Given the description of an element on the screen output the (x, y) to click on. 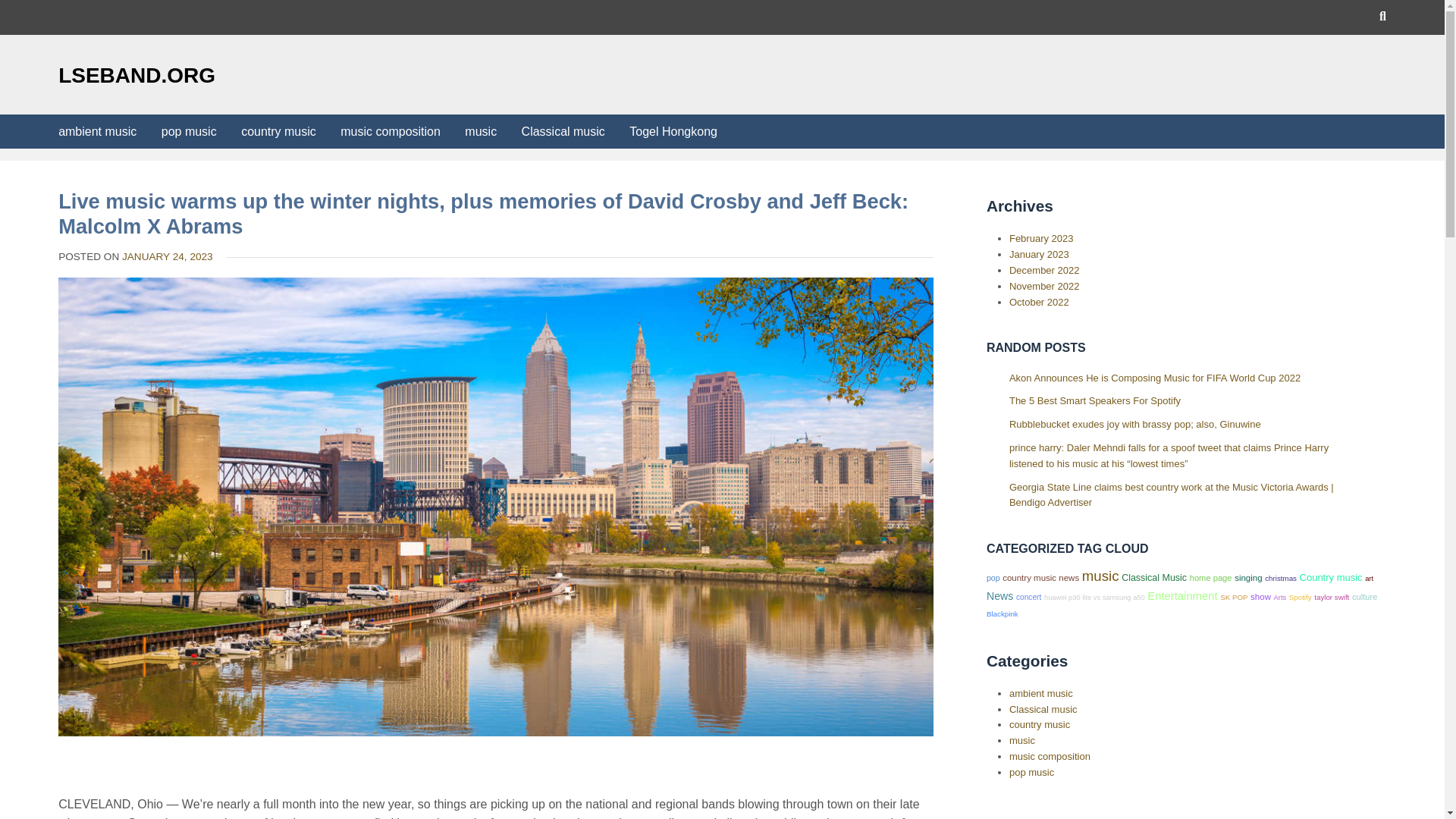
Akon Announces He is Composing Music for FIFA World Cup 2022 (1154, 377)
January 2023 (1038, 254)
pop (993, 577)
News (1000, 595)
country music (278, 131)
LSEBAND.ORG (136, 74)
Classical music (563, 131)
music (1100, 575)
ambient music (97, 131)
concert (1028, 596)
